Given the description of an element on the screen output the (x, y) to click on. 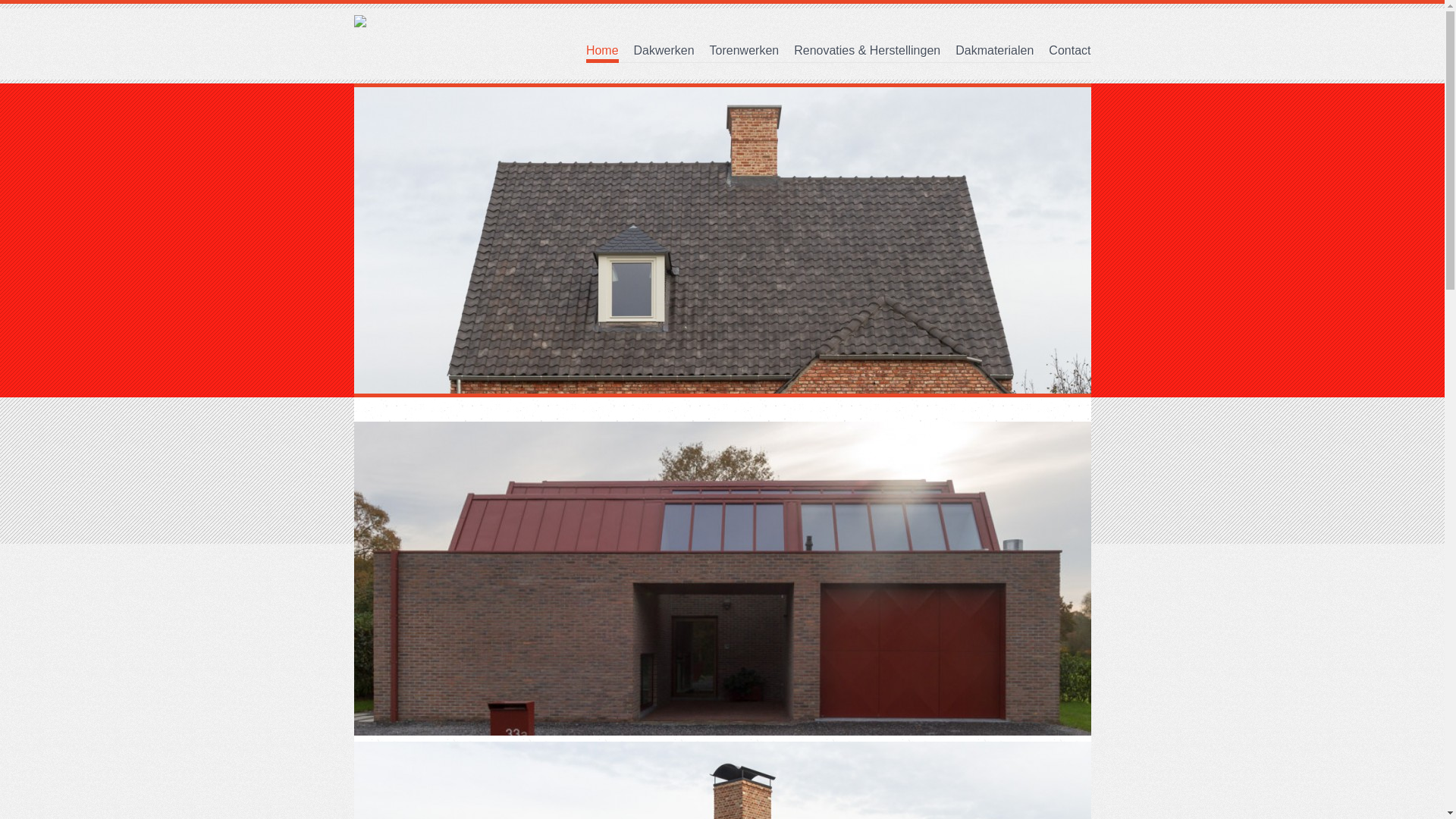
dakbedekkingsmaterialen Element type: text (425, 744)
http://www.dakwerken-dekort.be Element type: text (981, 772)
Torenwerken Element type: text (744, 50)
info@dakwerken-dekort.be Element type: text (970, 754)
Dakmaterialen Element type: text (994, 50)
gevelbekledingen Element type: text (778, 726)
torenwerken Element type: text (659, 635)
Renovaties & Herstellingen Element type: text (866, 50)
Contact Element type: text (1069, 50)
dakbedekking Element type: text (802, 690)
dak- Element type: text (596, 635)
Dakwerken Element type: text (663, 50)
hellende daken Element type: text (574, 708)
Home Element type: text (602, 51)
platte Element type: text (510, 708)
